Given the description of an element on the screen output the (x, y) to click on. 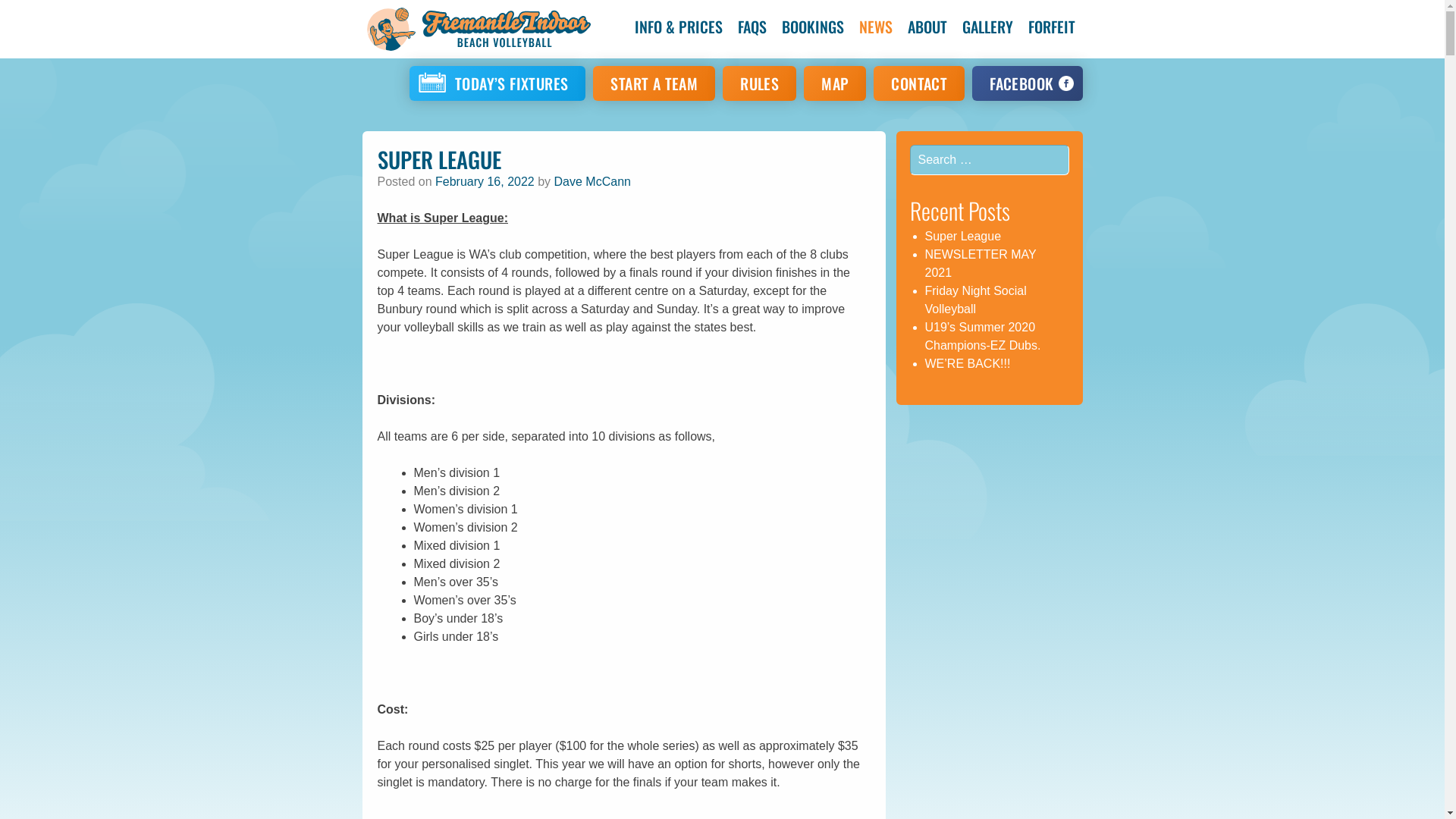
Search Element type: text (52, 21)
NEWSLETTER MAY 2021 Element type: text (980, 263)
GALLERY Element type: text (986, 26)
SUPER LEAGUE Element type: text (439, 159)
BOOKINGS Element type: text (811, 26)
FAQS Element type: text (751, 26)
February 16, 2022 Element type: text (484, 181)
FORFEIT Element type: text (1051, 26)
INFO & PRICES Element type: text (677, 26)
Fremantle Indoor Beach Volleyball Element type: hover (476, 28)
FACEBOOK Element type: text (1027, 82)
MAP Element type: text (834, 82)
Super League Element type: text (963, 235)
RULES Element type: text (759, 82)
Dave McCann Element type: text (592, 181)
CONTACT Element type: text (918, 82)
START A TEAM Element type: text (654, 82)
ABOUT Element type: text (926, 26)
SKIP TO CONTENT Element type: text (686, 26)
NEWS Element type: text (874, 26)
Friday Night Social Volleyball Element type: text (975, 299)
